Given the description of an element on the screen output the (x, y) to click on. 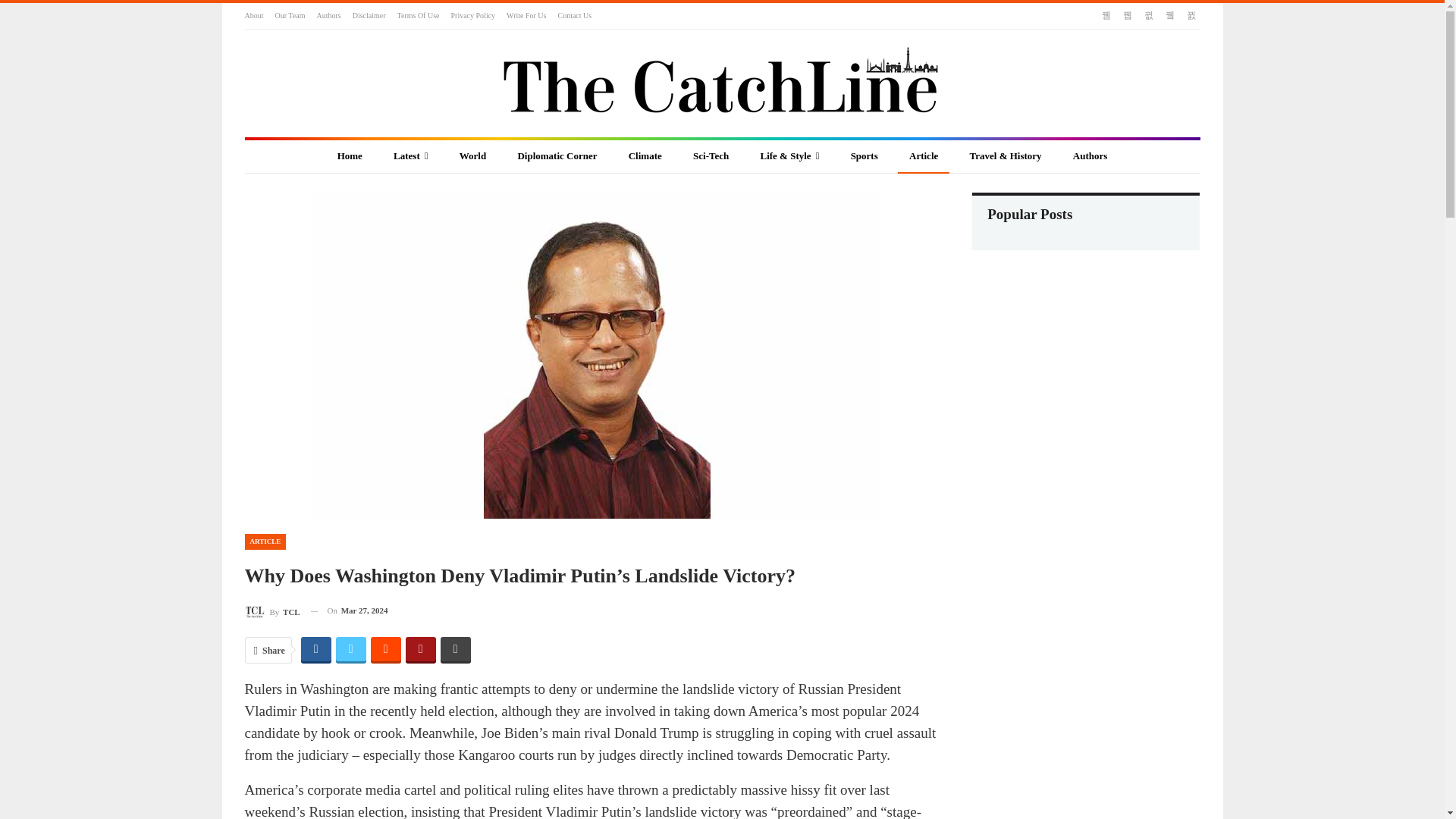
World (472, 156)
Sci-Tech (710, 156)
Privacy Policy (472, 15)
Contact Us (574, 15)
ARTICLE (264, 541)
Disclaimer (368, 15)
About (253, 15)
Our Team (289, 15)
Browse Author Articles (271, 610)
Home (350, 156)
Write For Us (526, 15)
Diplomatic Corner (556, 156)
Terms Of Use (418, 15)
Latest (410, 156)
Climate (644, 156)
